Given the description of an element on the screen output the (x, y) to click on. 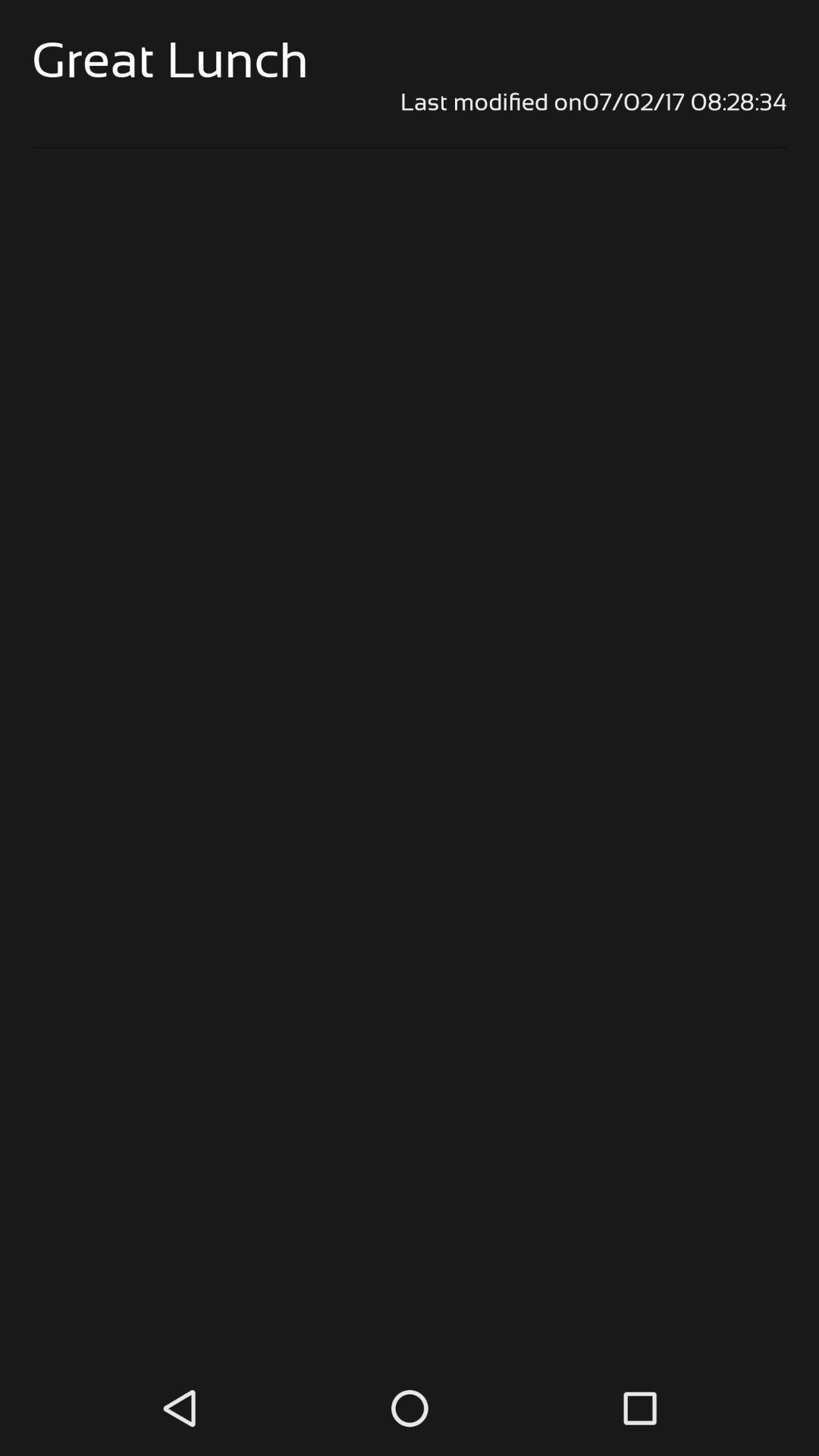
scroll to great lunch icon (169, 59)
